Given the description of an element on the screen output the (x, y) to click on. 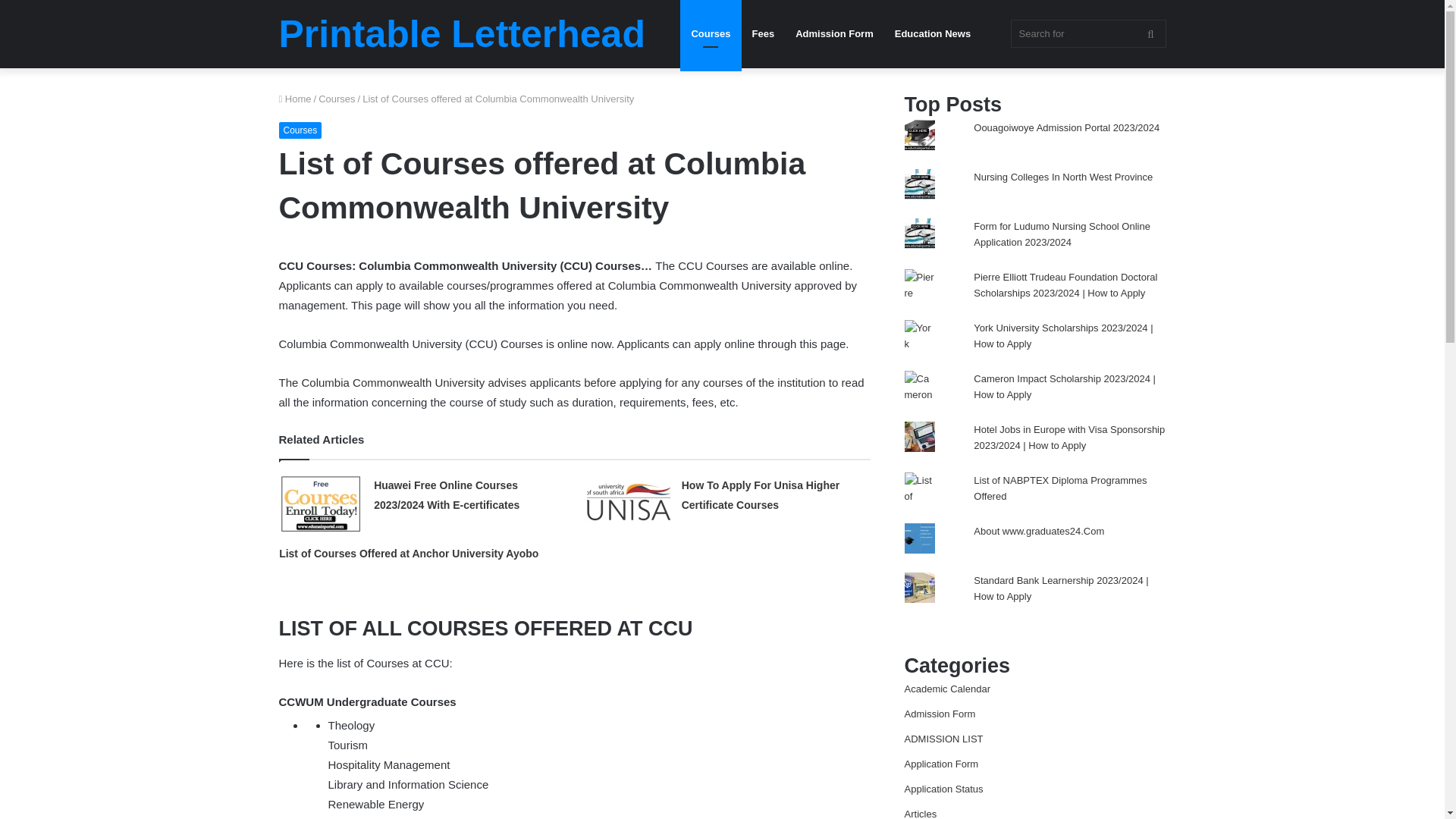
Admission Form (833, 33)
Courses (710, 33)
Printable Letterhead (462, 34)
Education News (932, 33)
Printable Letterhead (462, 34)
List of Courses Offered at Anchor University Ayobo (408, 553)
Courses (336, 98)
Search for (1088, 33)
Courses (300, 130)
How To Apply For Unisa Higher Certificate Courses (760, 495)
Home (295, 98)
